Given the description of an element on the screen output the (x, y) to click on. 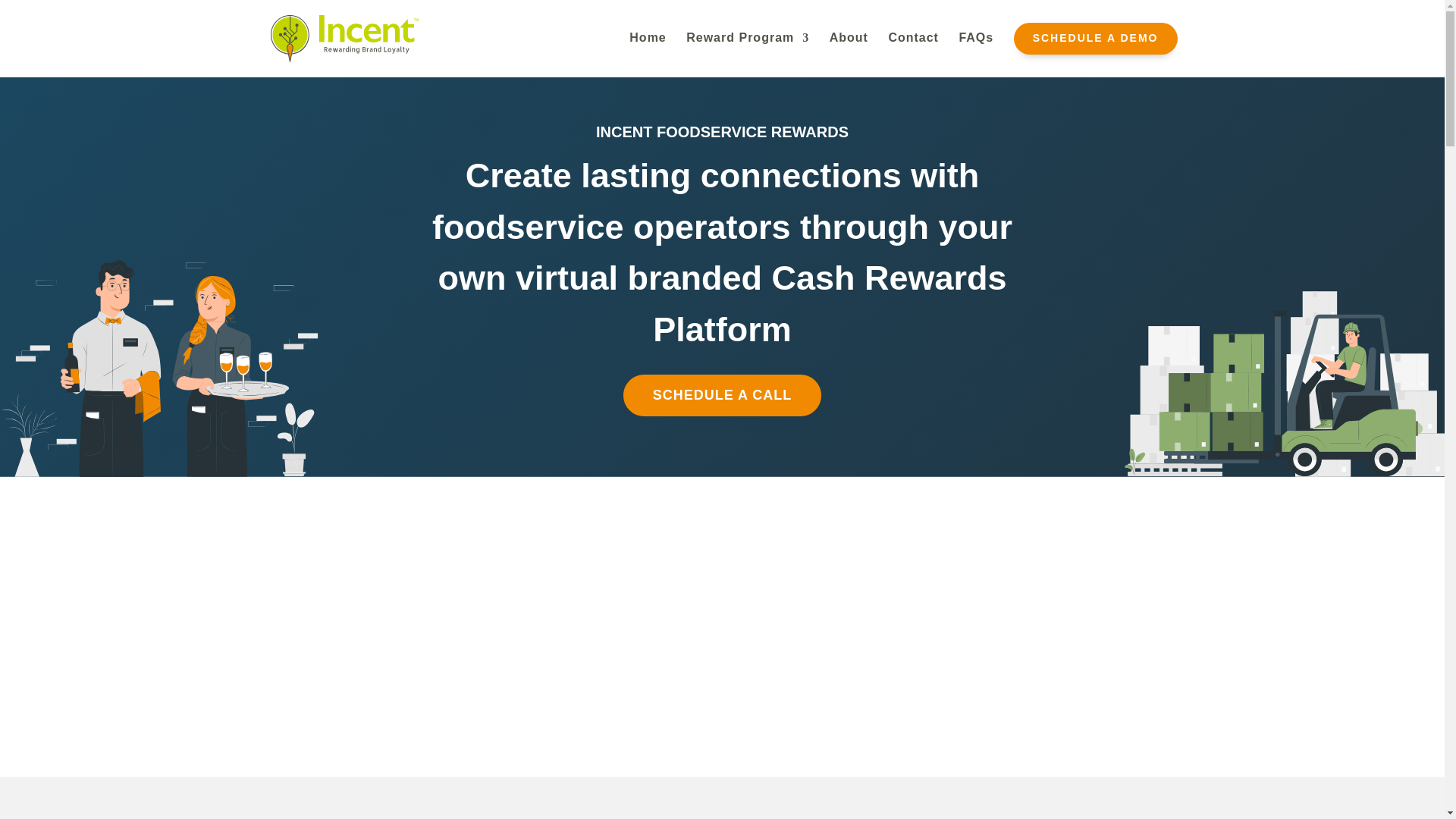
SCHEDULE A CALL (722, 395)
About (848, 49)
Contact (913, 49)
Reward Program (747, 49)
Home (646, 49)
SCHEDULE A DEMO (1095, 49)
FAQs (975, 49)
